Given the description of an element on the screen output the (x, y) to click on. 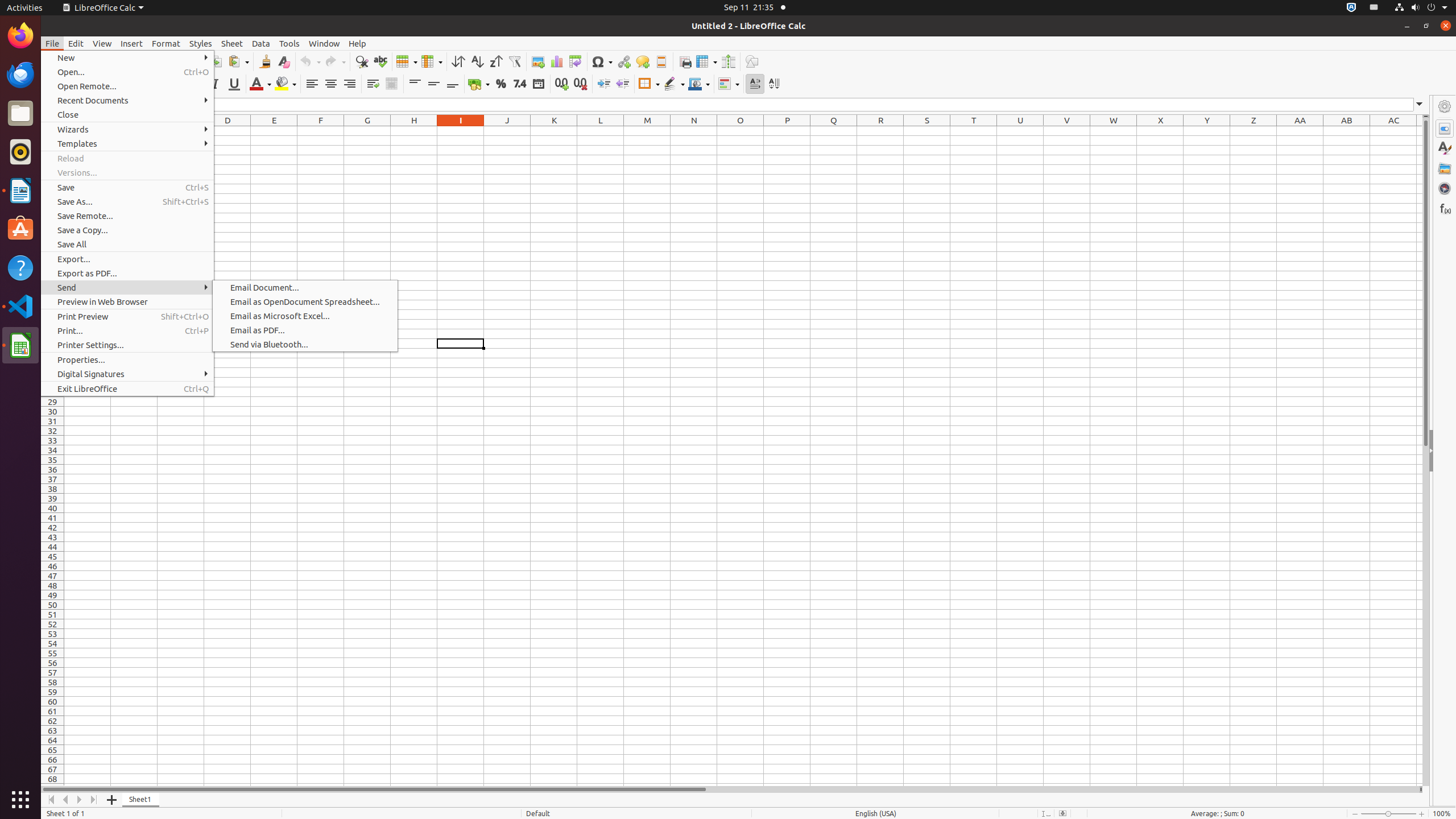
Properties... Element type: menu-item (126, 359)
Conditional Element type: push-button (728, 83)
Save a Copy... Element type: menu-item (126, 229)
AC1 Element type: table-cell (1393, 130)
Versions... Element type: menu-item (126, 172)
